Given the description of an element on the screen output the (x, y) to click on. 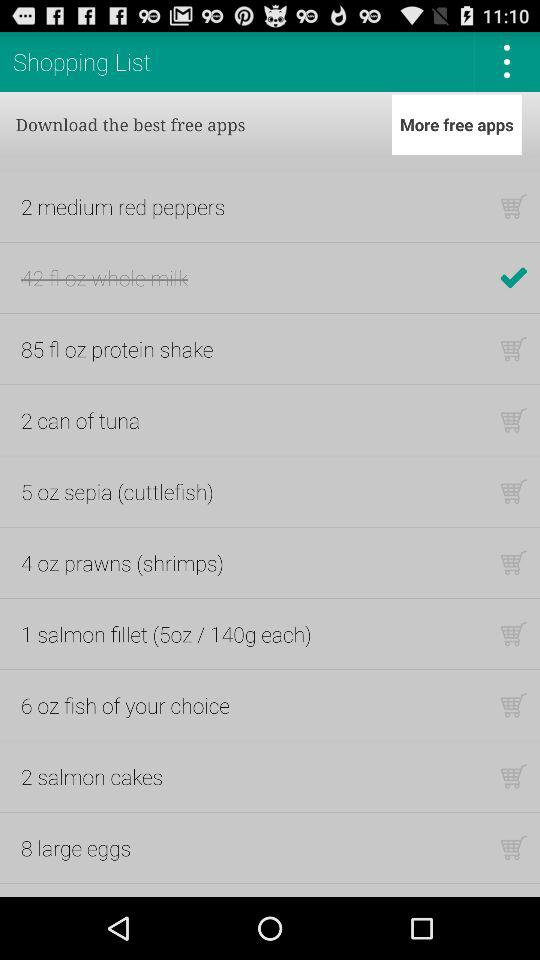
jump until 8 large eggs (76, 847)
